Given the description of an element on the screen output the (x, y) to click on. 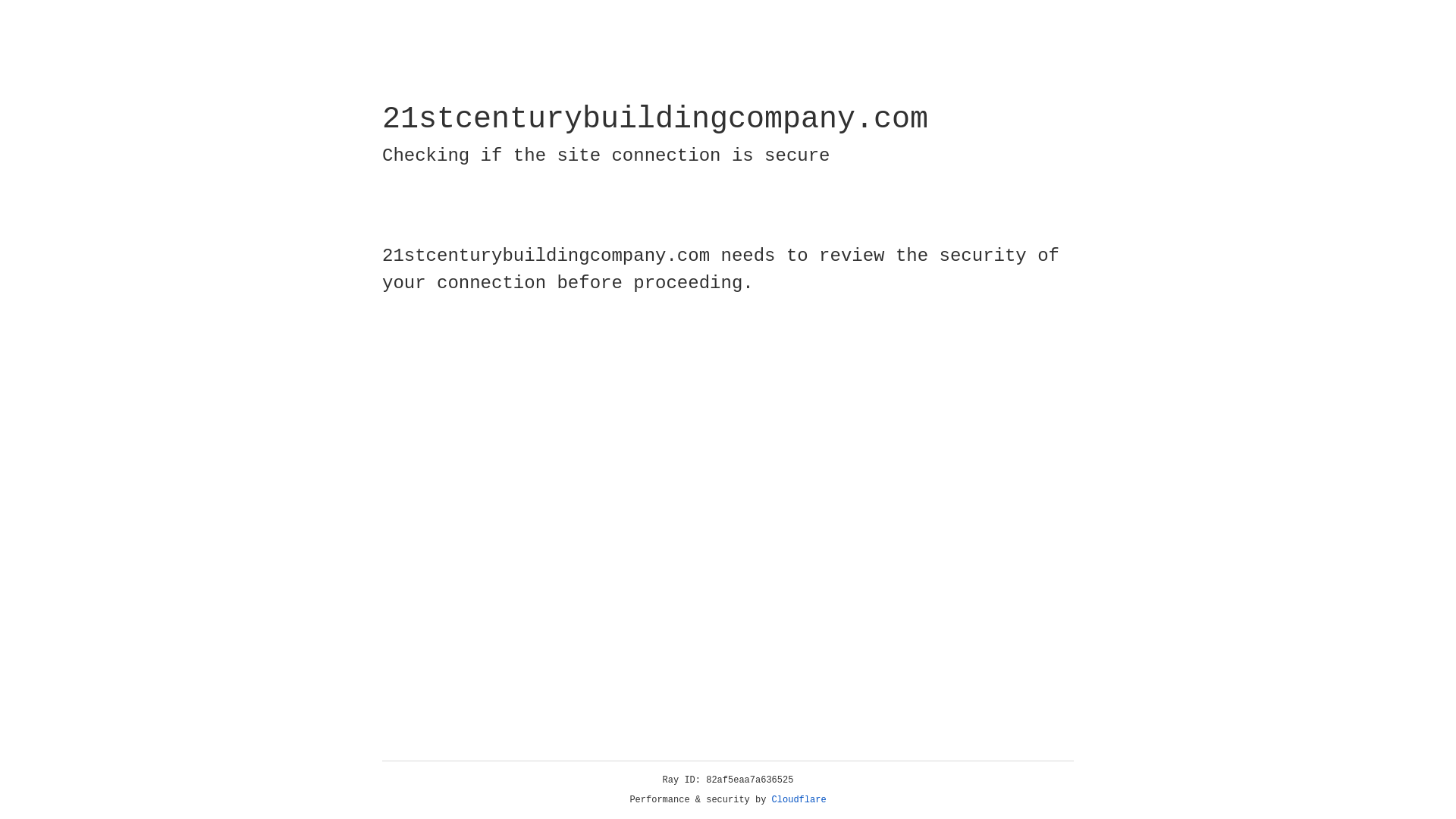
Cloudflare Element type: text (798, 799)
